Given the description of an element on the screen output the (x, y) to click on. 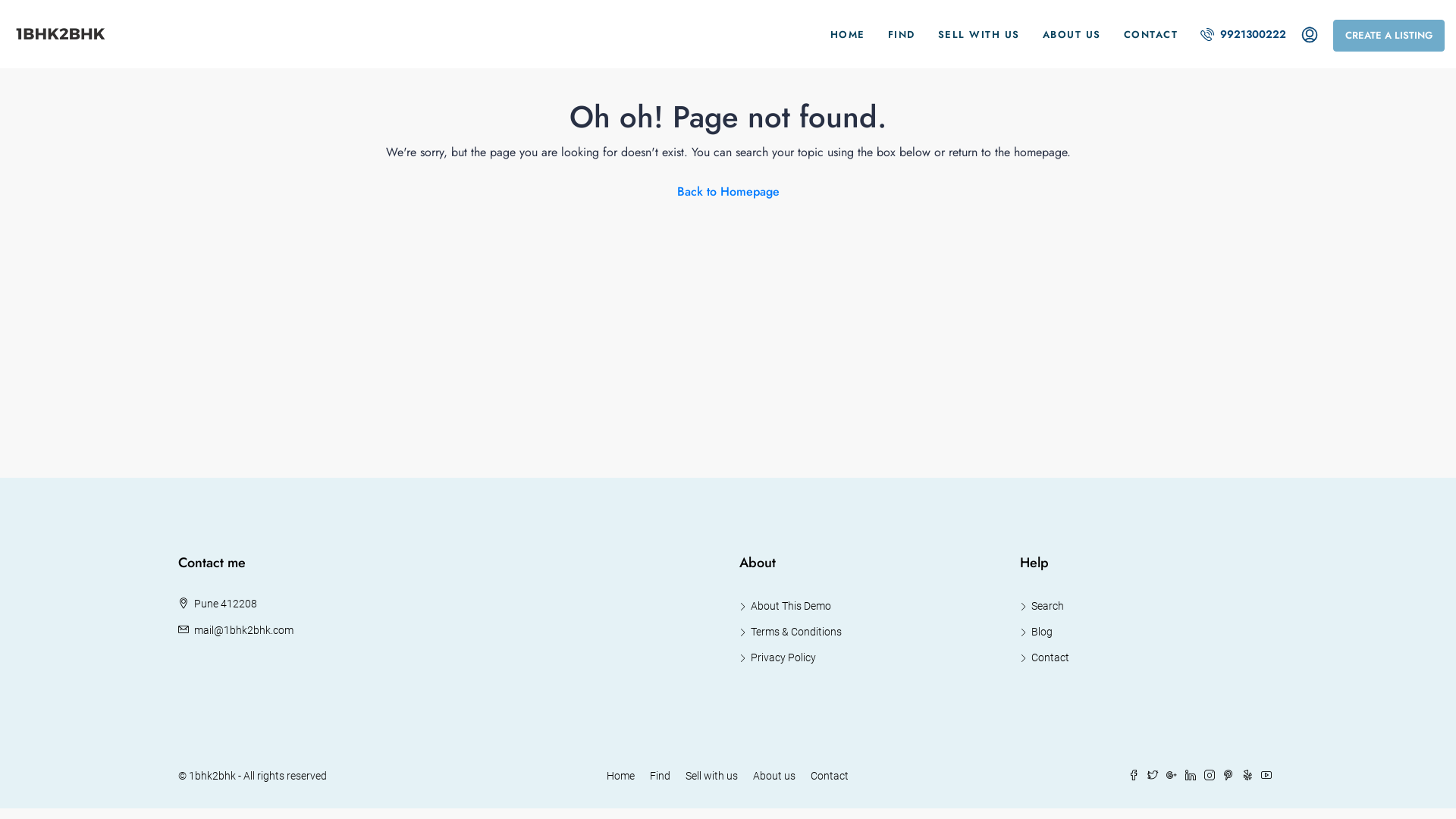
Search Element type: text (1041, 605)
Blog Element type: text (1035, 631)
Privacy Policy Element type: text (777, 657)
Contact Element type: text (1044, 657)
FIND Element type: text (901, 34)
ABOUT US Element type: text (1071, 34)
About us Element type: text (774, 775)
CONTACT Element type: text (1150, 34)
CREATE A LISTING Element type: text (1388, 35)
Contact Element type: text (829, 775)
Home Element type: text (620, 775)
HOME Element type: text (847, 34)
About This Demo Element type: text (785, 605)
Terms & Conditions Element type: text (790, 631)
Sell with us Element type: text (711, 775)
9921300222 Element type: text (1246, 33)
Find Element type: text (659, 775)
SELL WITH US Element type: text (978, 34)
mail@1bhk2bhk.com Element type: text (243, 630)
Back to Homepage Element type: text (727, 191)
